Given the description of an element on the screen output the (x, y) to click on. 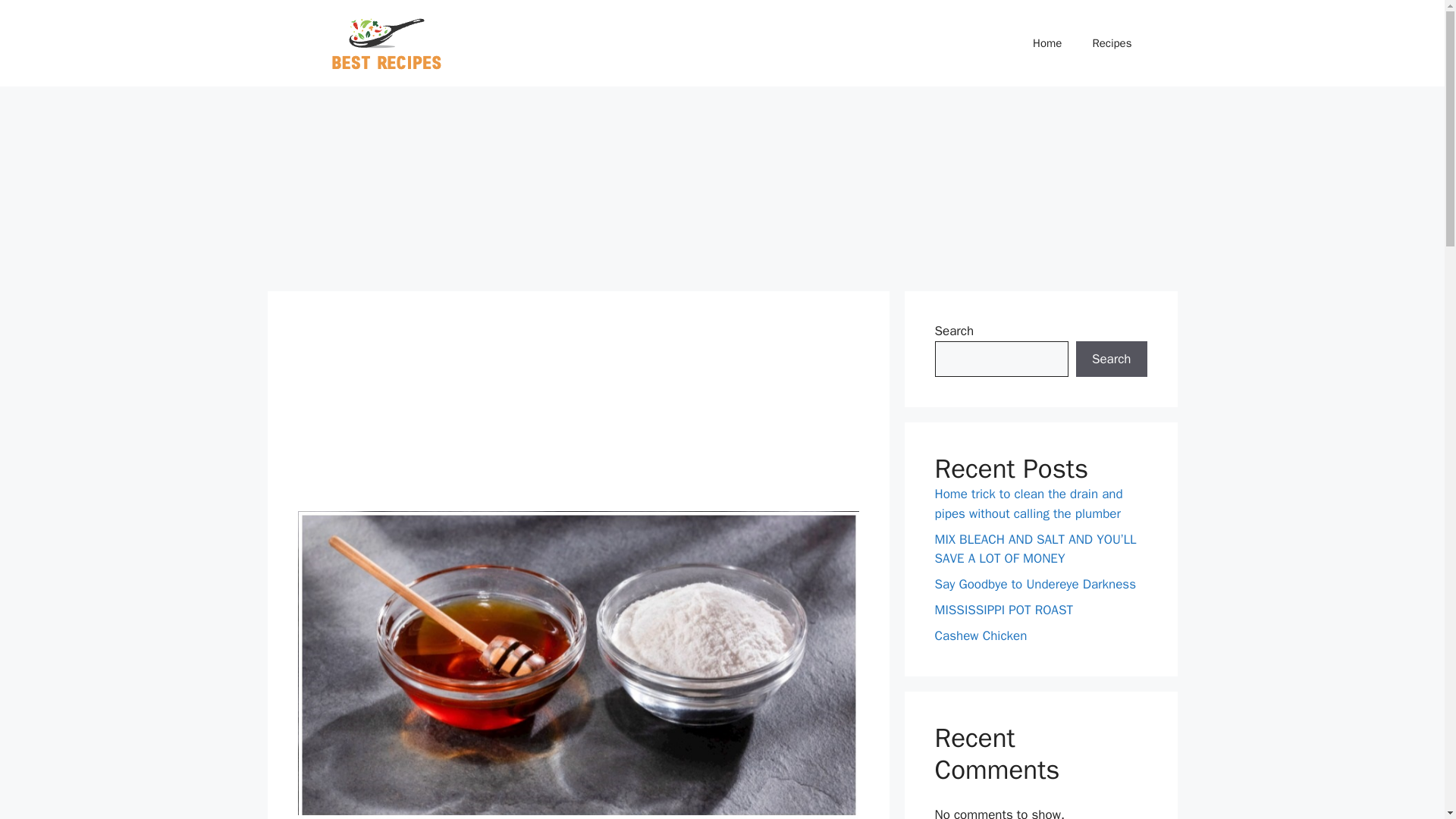
Cashew Chicken (980, 635)
Recipes (1112, 43)
MISSISSIPPI POT ROAST (1002, 609)
Home (1047, 43)
Search (1111, 359)
Say Goodbye to Undereye Darkness (1034, 584)
